Given the description of an element on the screen output the (x, y) to click on. 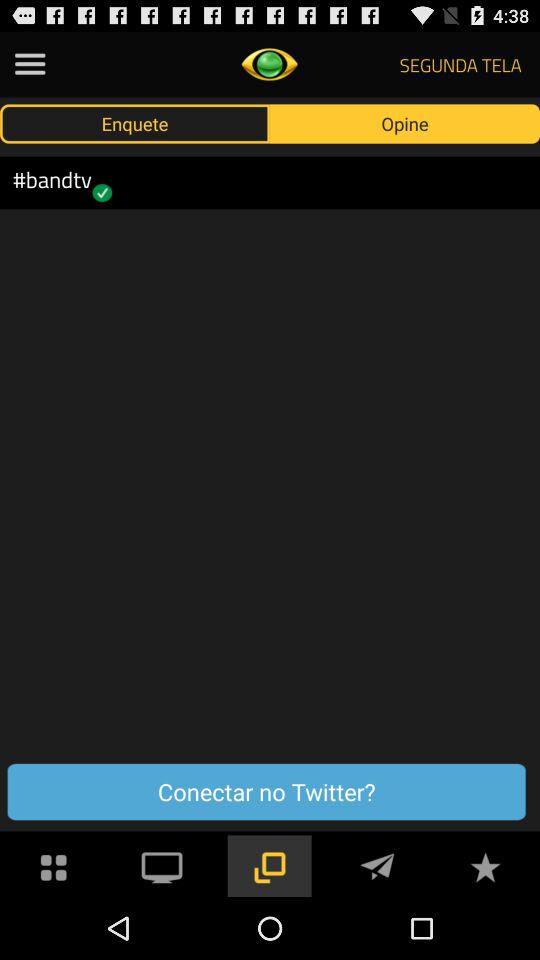
select the icon above #bandtv (135, 123)
